Given the description of an element on the screen output the (x, y) to click on. 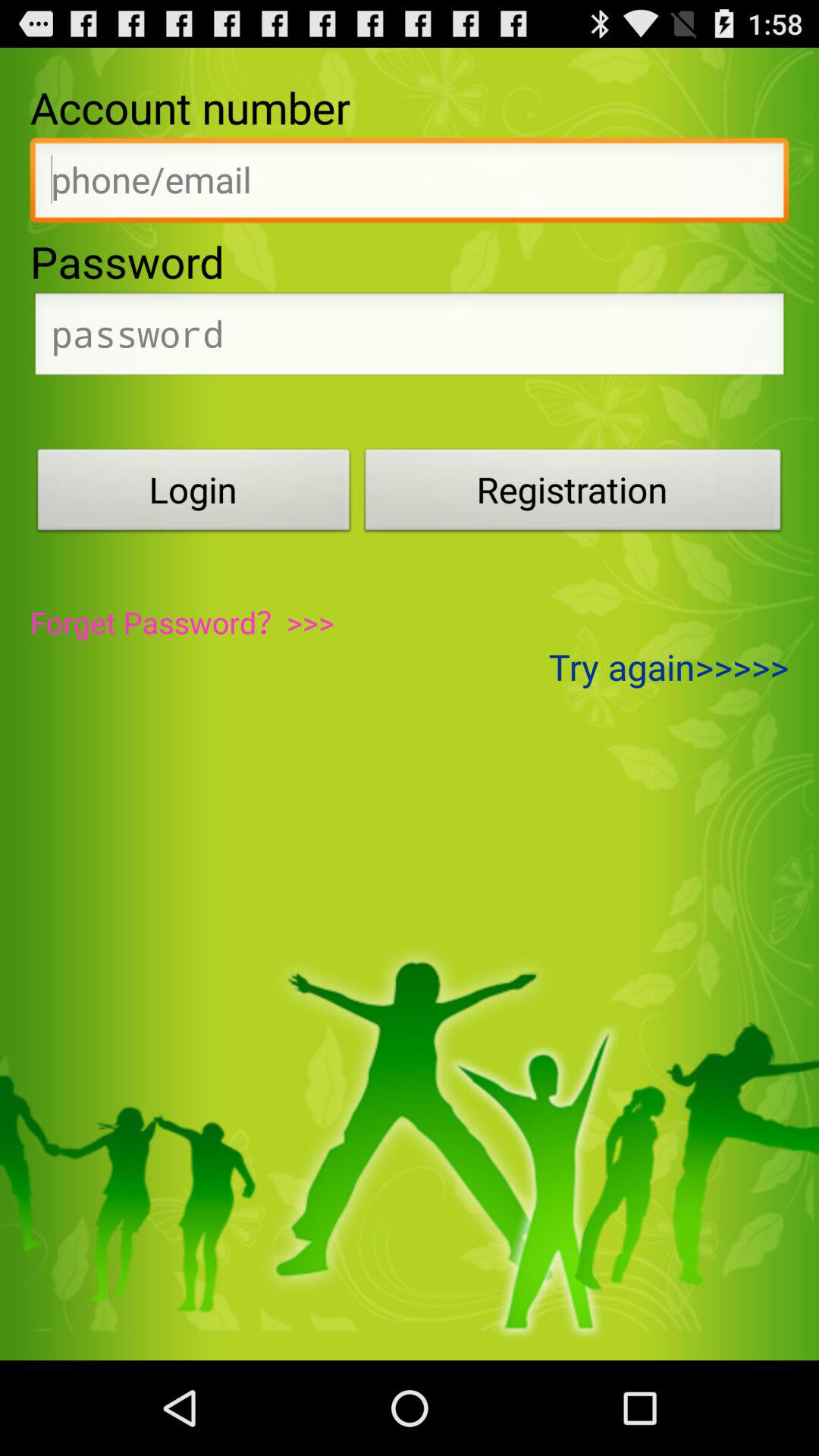
tap icon next to login (572, 494)
